Given the description of an element on the screen output the (x, y) to click on. 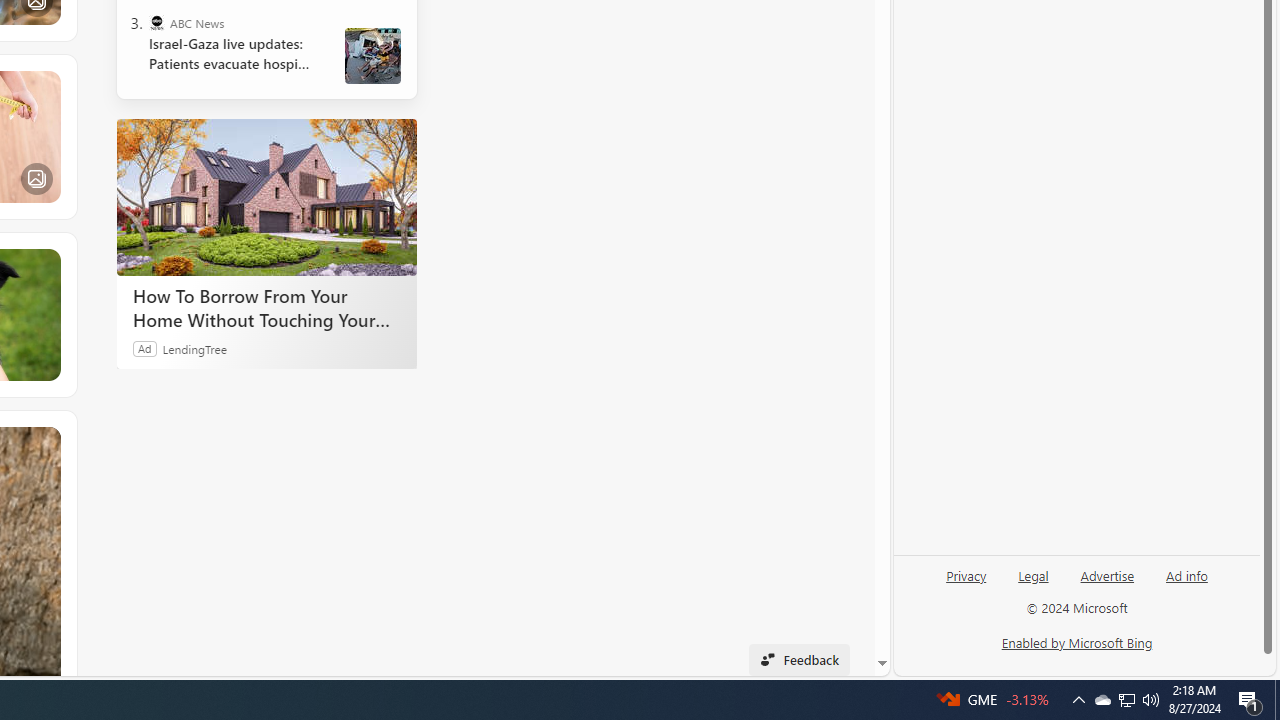
LendingTree (194, 348)
How To Borrow From Your Home Without Touching Your Mortgage (266, 307)
Feedback (798, 659)
Privacy (965, 574)
Ad info (1187, 574)
Advertise (1107, 574)
Advertise (1106, 583)
How To Borrow From Your Home Without Touching Your Mortgage (266, 196)
Legal (1033, 574)
See more (46, 440)
Ad info (1186, 583)
